Given the description of an element on the screen output the (x, y) to click on. 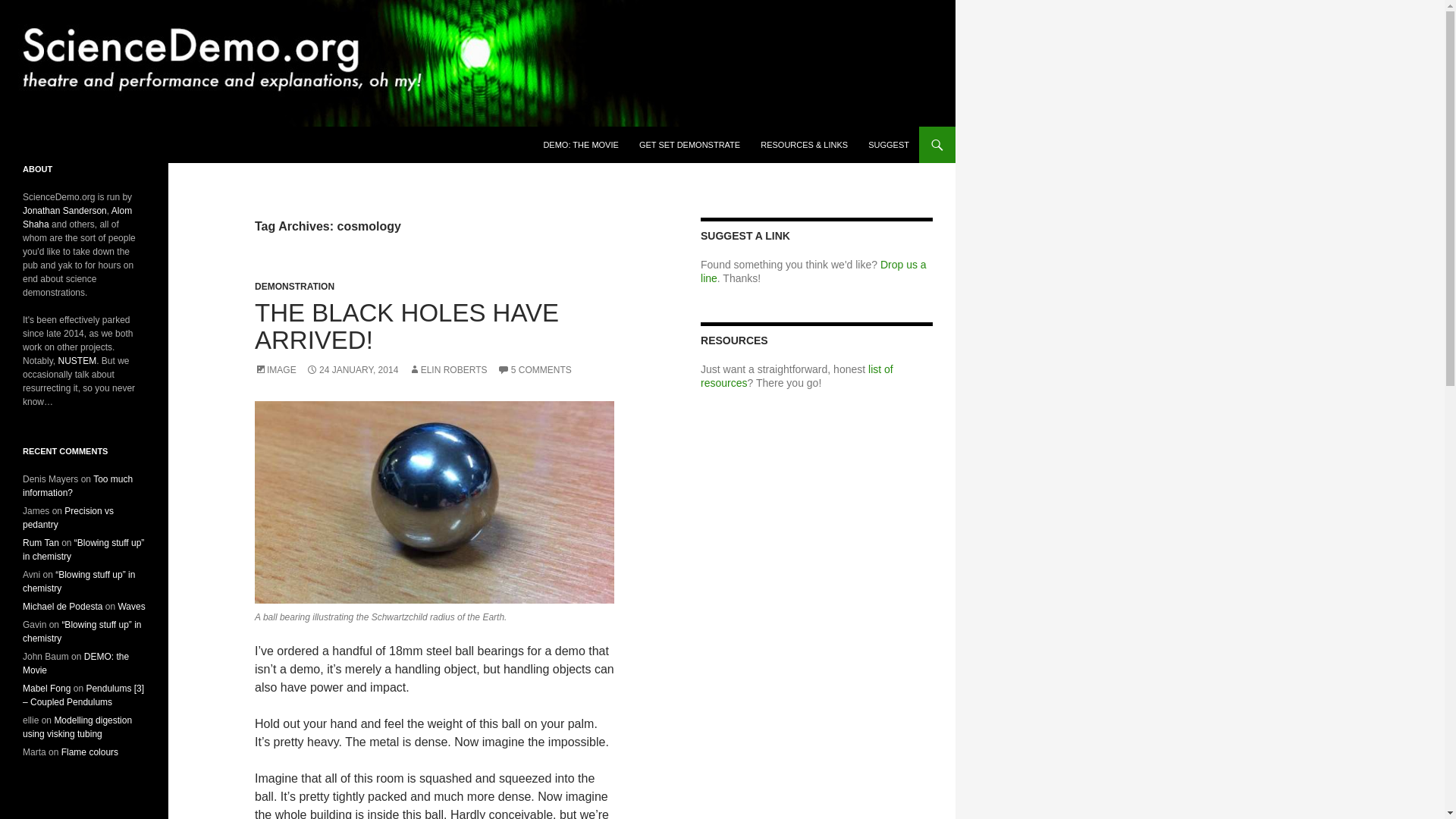
THE BLACK HOLES HAVE ARRIVED! (406, 325)
ELIN ROBERTS (448, 369)
SUGGEST (888, 144)
5 COMMENTS (534, 369)
NUSTEM (77, 360)
DEMONSTRATION (294, 286)
Waves (130, 606)
DEMO: the Movie (76, 663)
list of resources (796, 376)
Modelling digestion using visking tubing (77, 726)
